Given the description of an element on the screen output the (x, y) to click on. 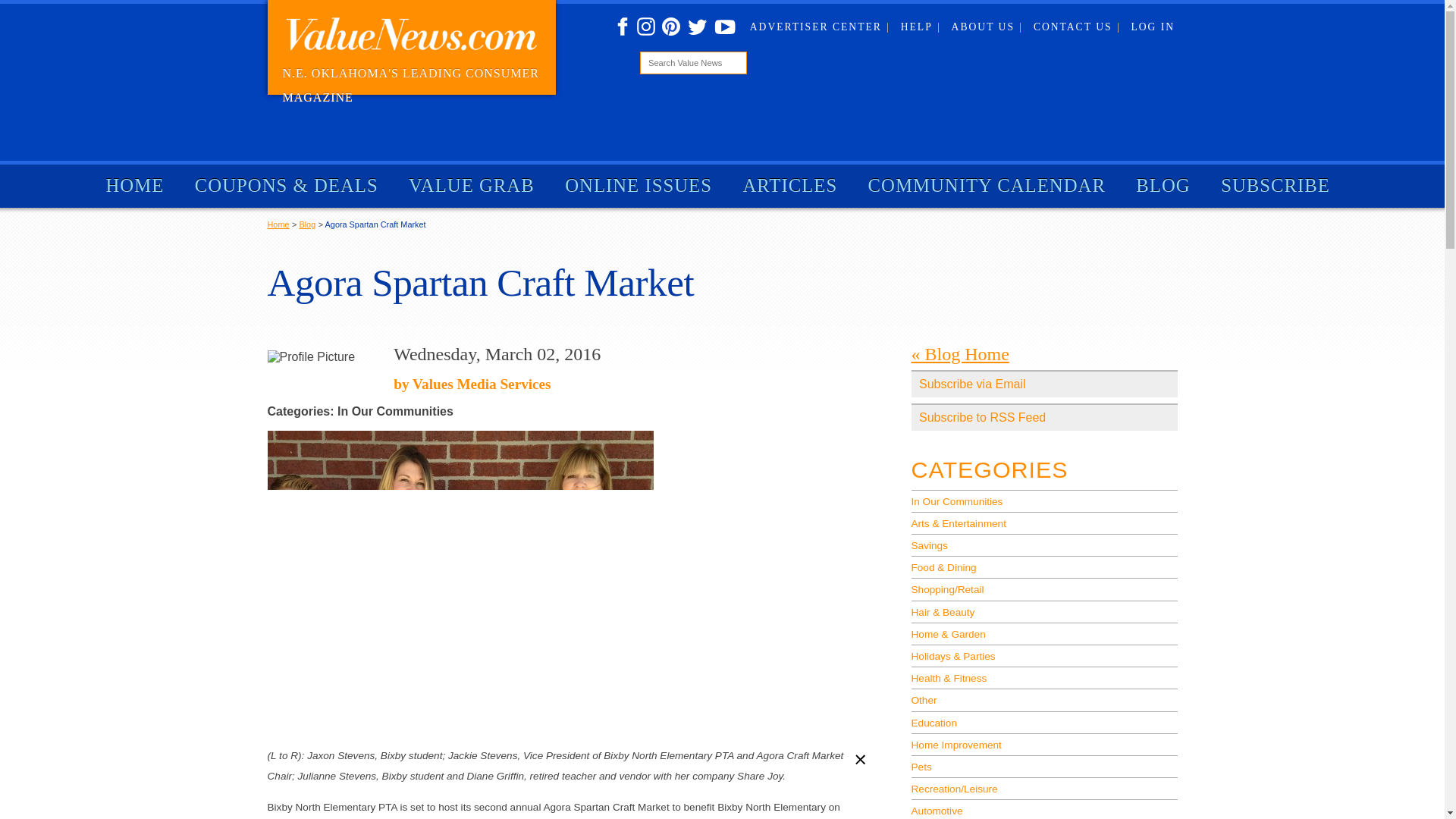
Agora Spartan Craft Market (375, 224)
In Our Communities (1044, 500)
Subscribe via Email (1044, 383)
Subscribe to RSS Feed (1044, 416)
COMMUNITY CALENDAR (986, 185)
Blog (306, 224)
Home (277, 224)
Blog (306, 224)
LOG IN (1152, 27)
Subscribe to the Value News Tulsa Values Blog (1044, 416)
CONTACT US (1077, 27)
Agora Spartan Craft Market (375, 224)
View Blog Posts in the Savings category (1044, 544)
ONLINE ISSUES (638, 185)
HOME (135, 185)
